Given the description of an element on the screen output the (x, y) to click on. 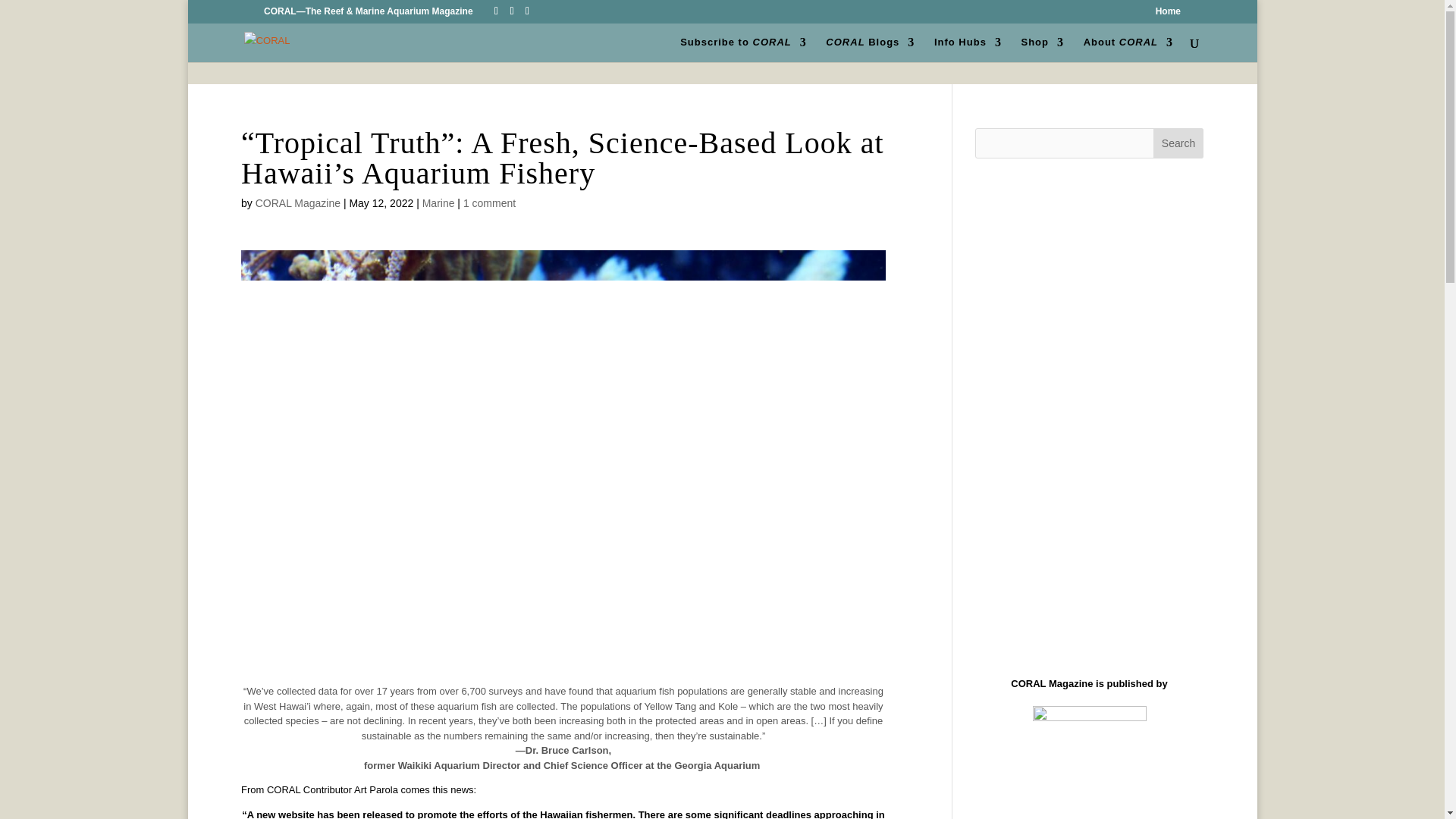
Subscribe to CORAL Magazine (742, 49)
Subscribe to CORAL (742, 49)
Home (1168, 14)
Info Hubs (967, 49)
CORAL Blogs (869, 49)
